Given the description of an element on the screen output the (x, y) to click on. 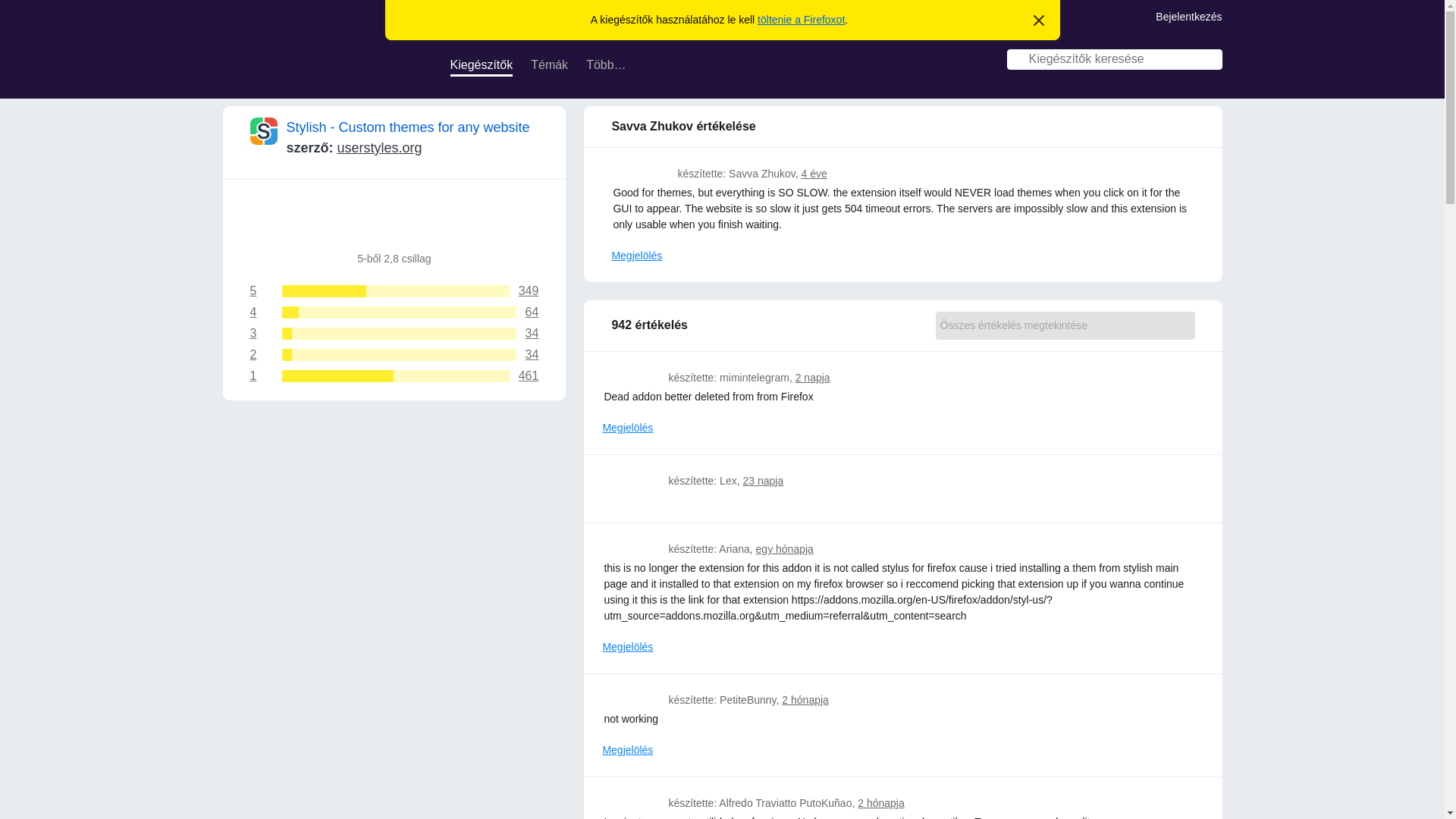
userstyles.org (379, 147)
2 napja (811, 377)
23 napja (394, 312)
Stylish - Custom themes for any website (394, 354)
2021. jan. 4. 18:30 (394, 376)
